Given the description of an element on the screen output the (x, y) to click on. 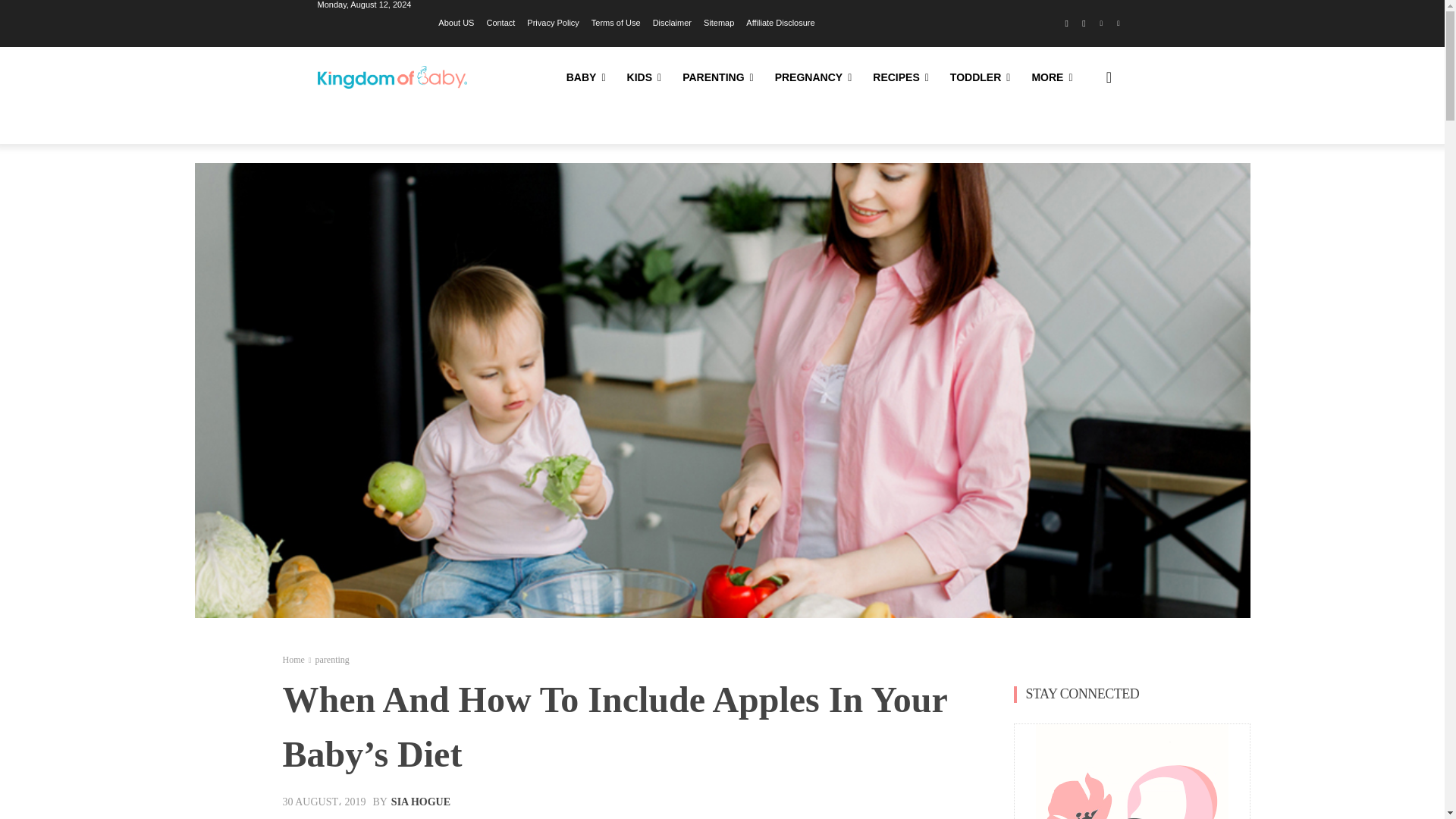
Facebook (1066, 23)
View all posts in parenting (331, 659)
Pinterest (1101, 23)
Instagram (1084, 23)
Twitter (1117, 23)
